Given the description of an element on the screen output the (x, y) to click on. 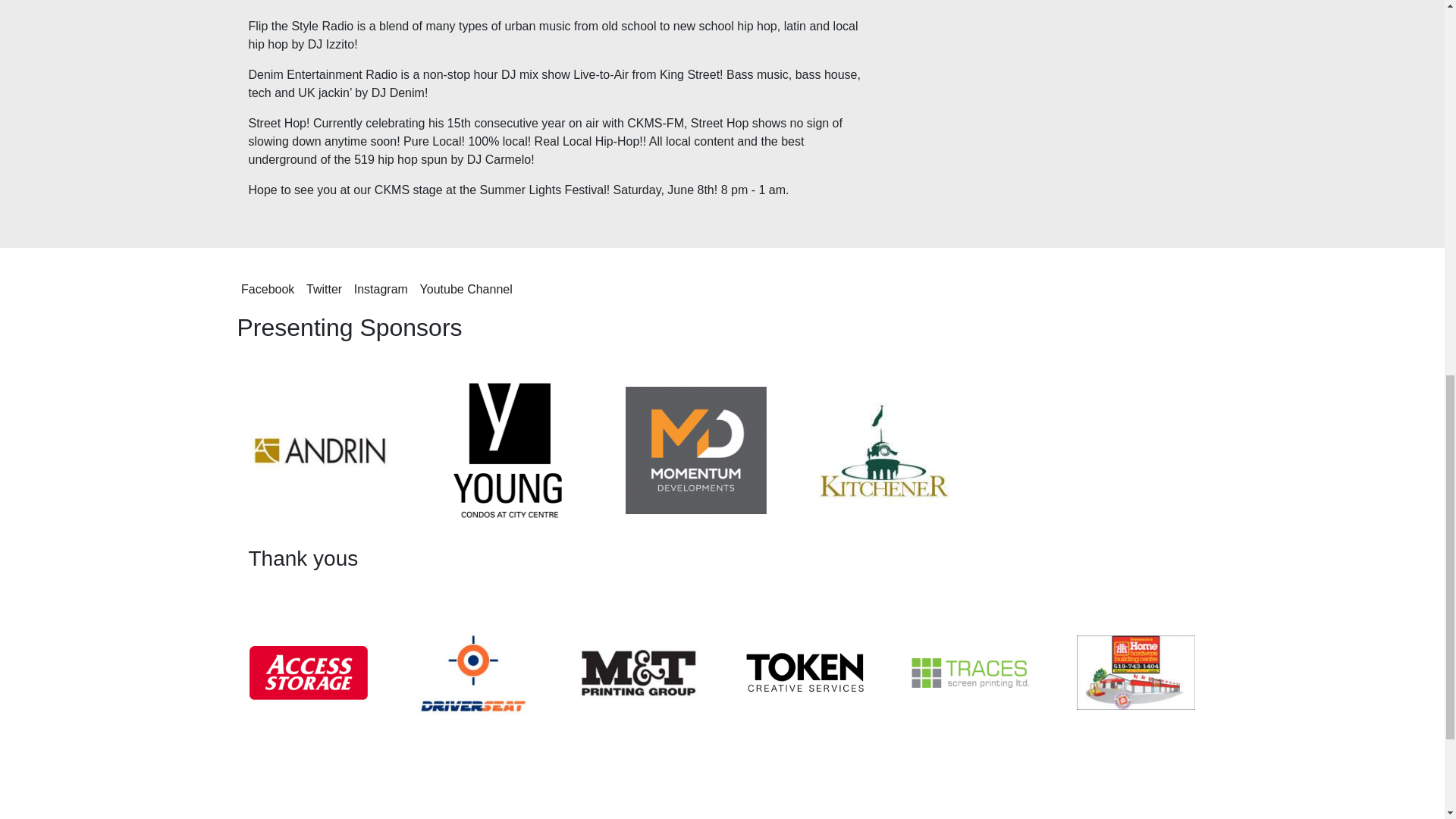
Instagram (380, 288)
Youtube Channel (466, 288)
Facebook (267, 288)
Twitter (323, 288)
